Given the description of an element on the screen output the (x, y) to click on. 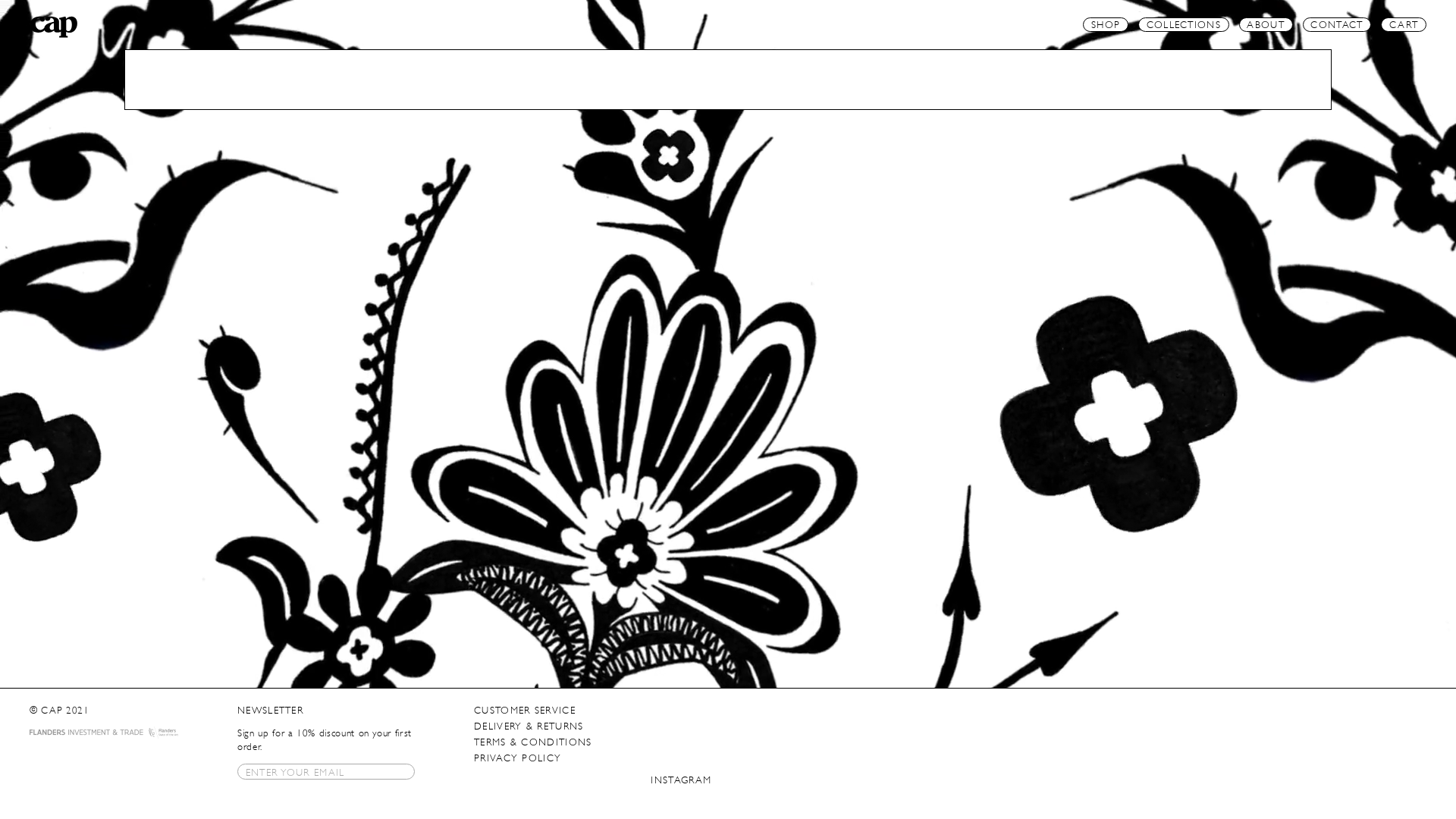
SHOP Element type: text (1105, 24)
INSTAGRAM Element type: text (680, 779)
PRIVACY POLICY Element type: text (517, 757)
DELIVERY & RETURNS Element type: text (528, 725)
CART Element type: text (1403, 24)
CUSTOMER SERVICE Element type: text (524, 709)
COLLECTIONS Element type: text (1183, 24)
TERMS & CONDITIONS Element type: text (532, 741)
ABOUT Element type: text (1265, 24)
CONTACT Element type: text (1336, 24)
